Given the description of an element on the screen output the (x, y) to click on. 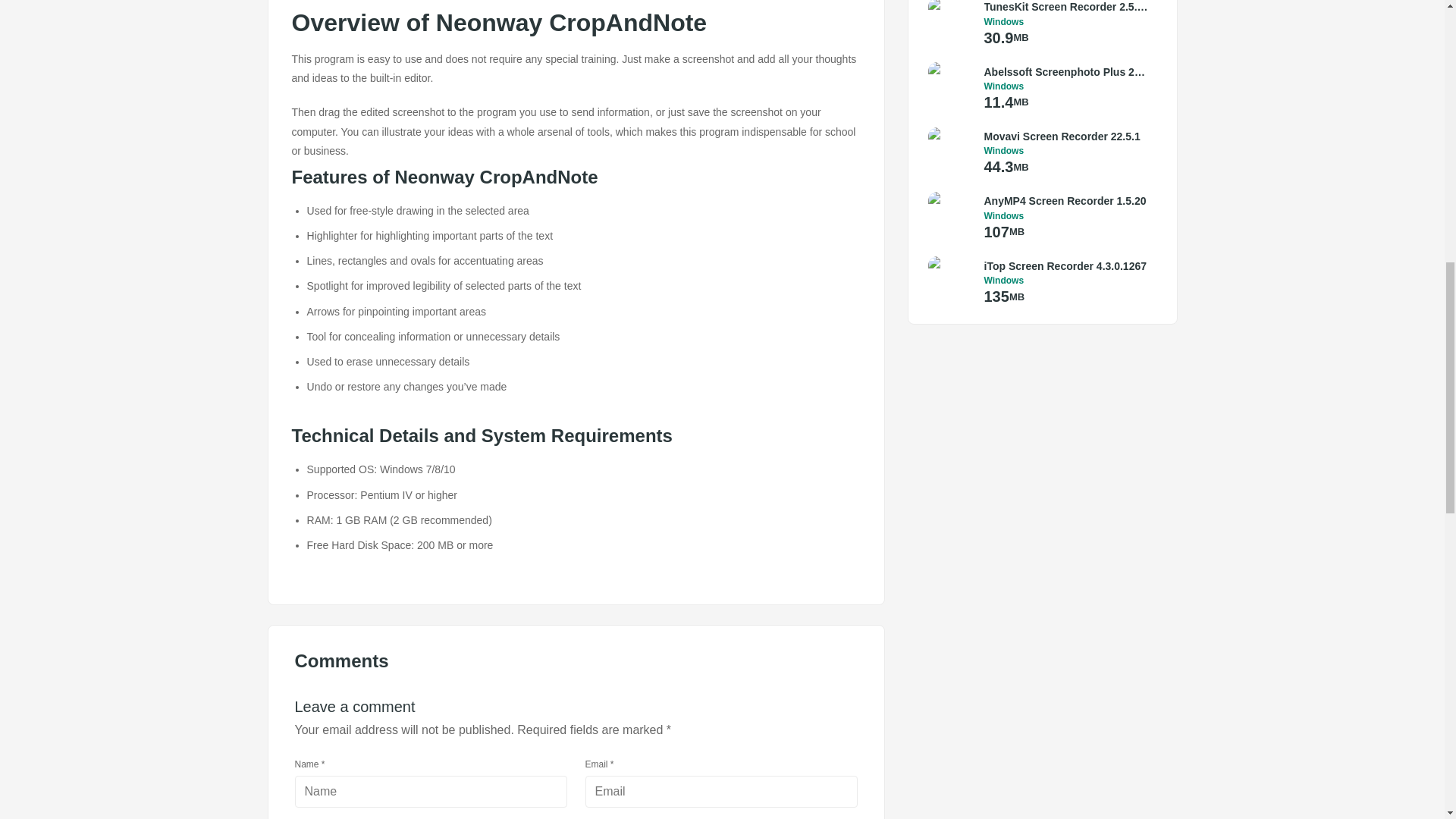
iTop Screen Recorder 4.3.0.1267 (1066, 265)
Windows (1066, 215)
AnyMP4 Screen Recorder 1.5.20 (1066, 200)
Windows (1066, 85)
Windows (1066, 150)
Abelssoft Screenphoto Plus 2023 v8.1 (1066, 71)
Windows (1066, 21)
Movavi Screen Recorder 22.5.1 (1066, 135)
Windows (1066, 280)
TunesKit Screen Recorder 2.5.0.56 (1066, 7)
